Given the description of an element on the screen output the (x, y) to click on. 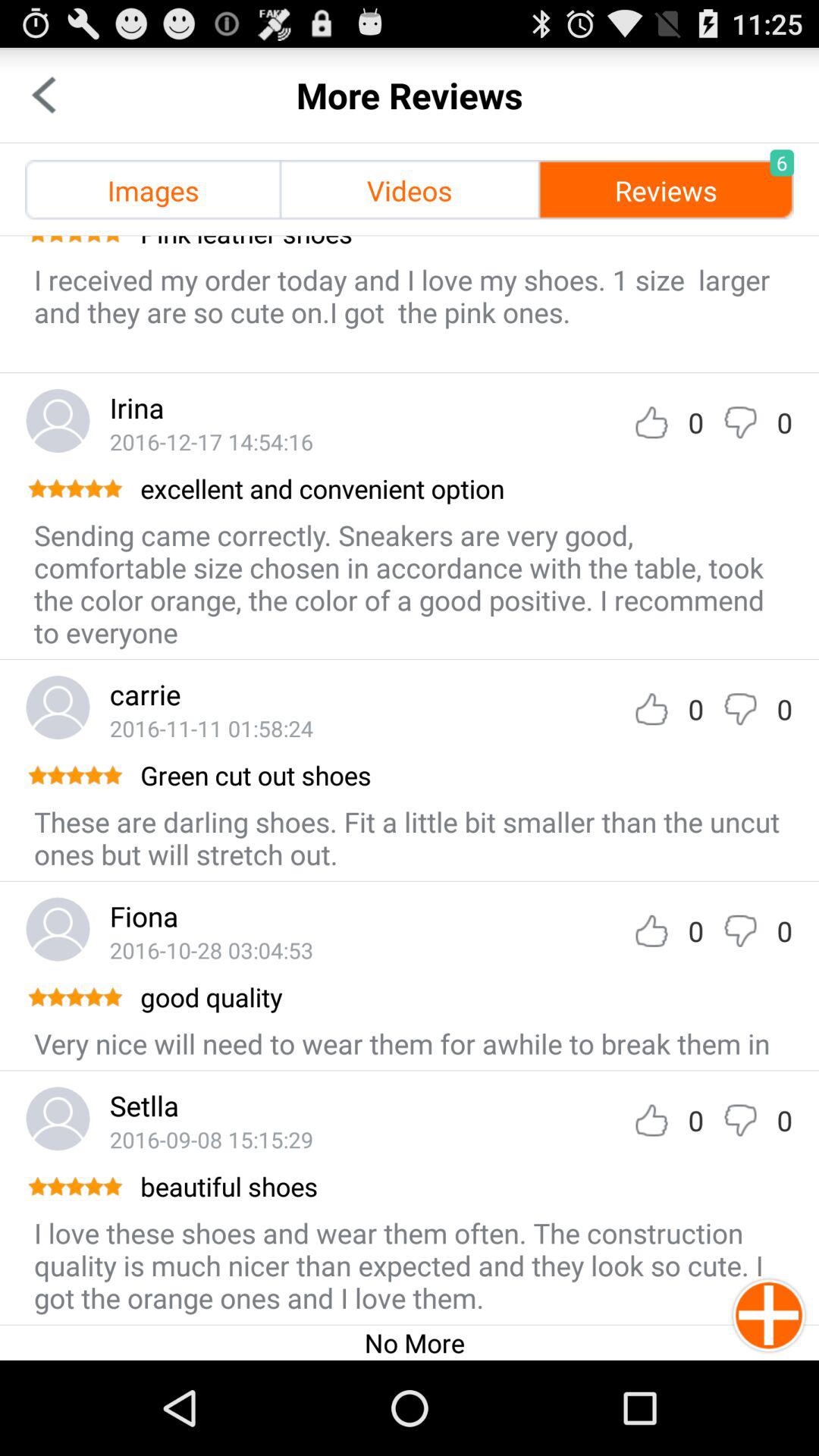
launch the item below the fiona item (211, 950)
